Given the description of an element on the screen output the (x, y) to click on. 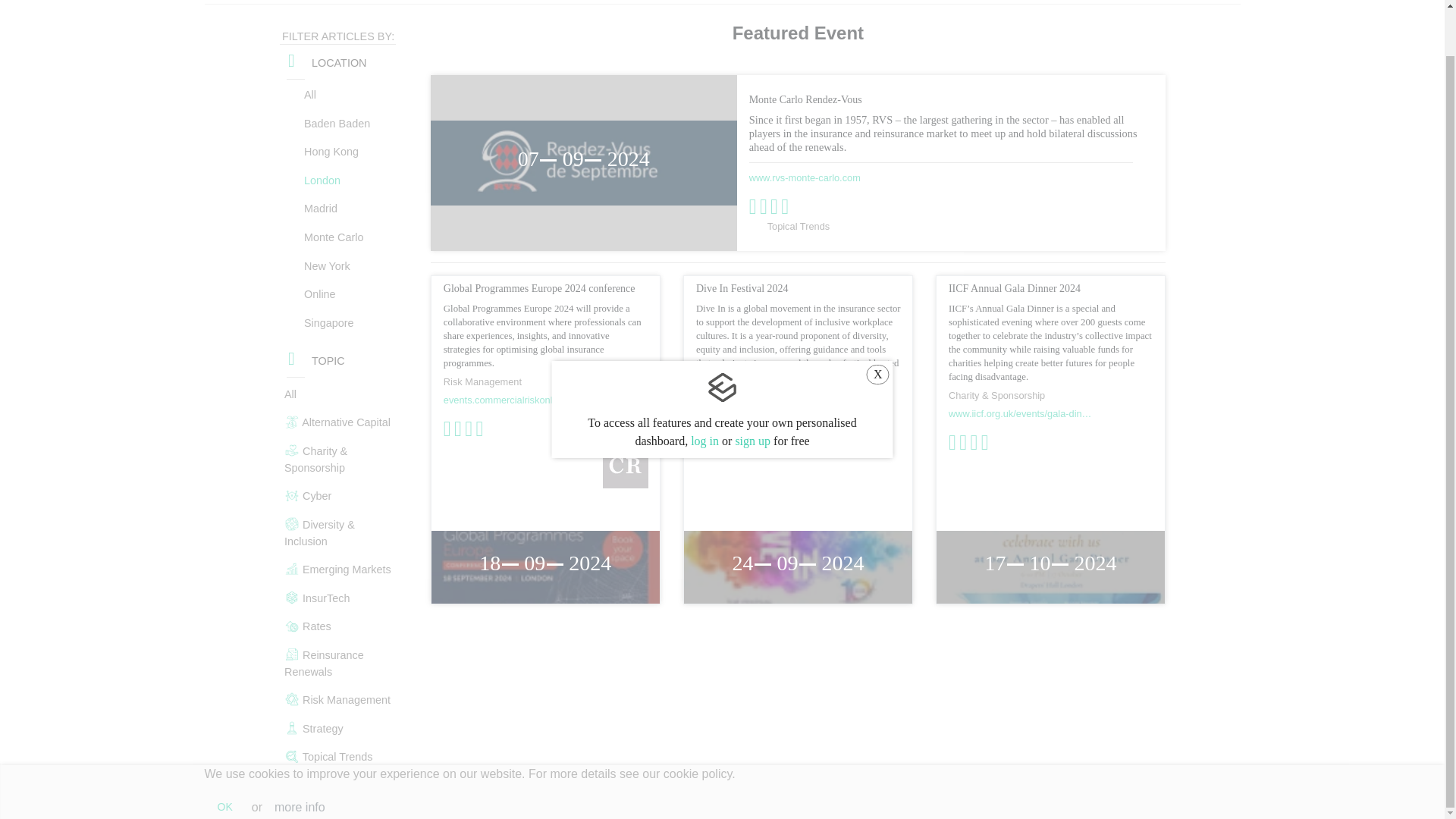
Monte Carlo (335, 237)
Online (335, 294)
Event img (544, 566)
London (335, 181)
Strategy (335, 727)
Hong Kong (335, 152)
Rates (335, 624)
Event img (798, 566)
Baden Baden (335, 123)
Alternative Capital (335, 421)
New York (335, 266)
Risk Management (335, 698)
Event img (1050, 566)
Singapore (335, 323)
Monte Carlo Rendez-Vous (583, 162)
